Given the description of an element on the screen output the (x, y) to click on. 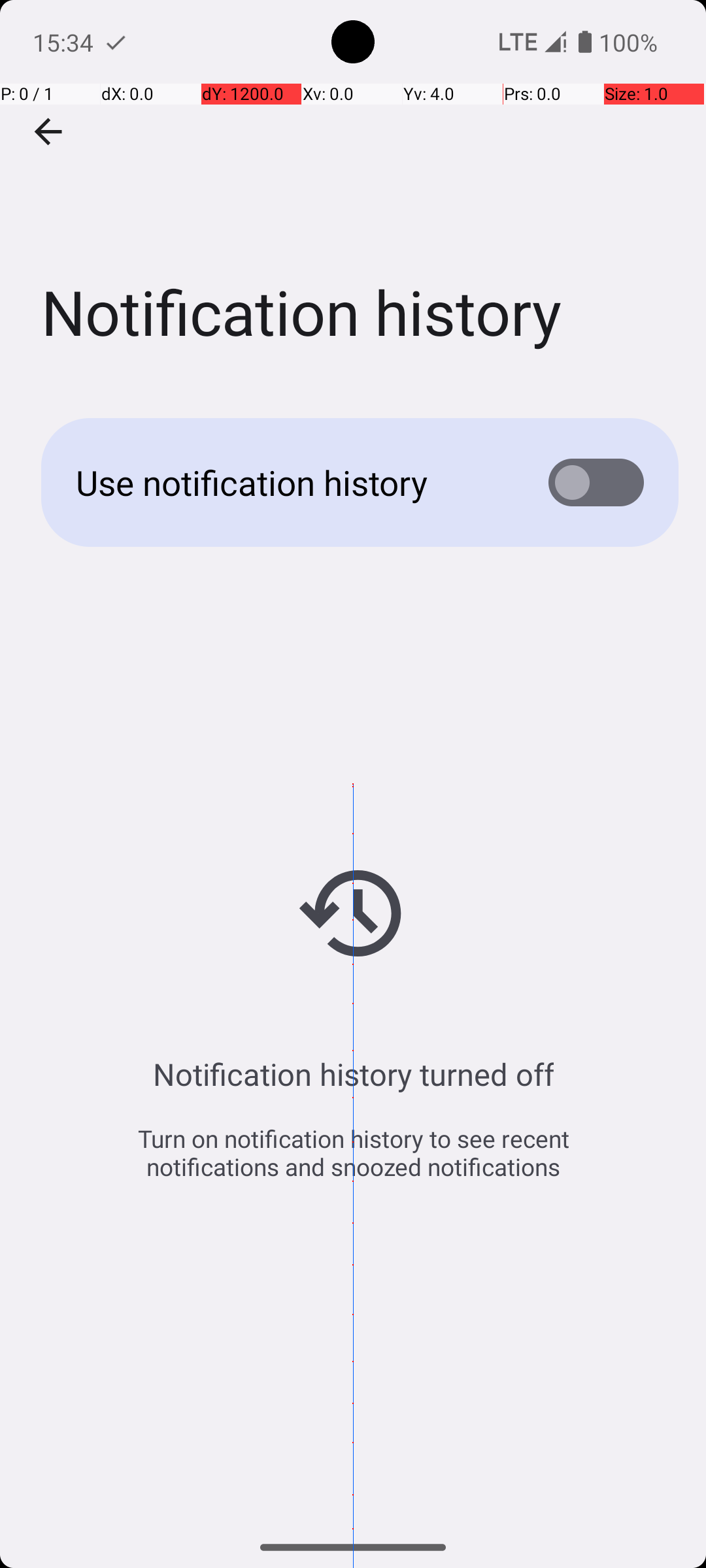
Notification history turned off Element type: android.widget.TextView (352, 1073)
Turn on notification history to see recent notifications and snoozed notifications Element type: android.widget.TextView (352, 1152)
Use notification history Element type: android.widget.TextView (291, 482)
